Given the description of an element on the screen output the (x, y) to click on. 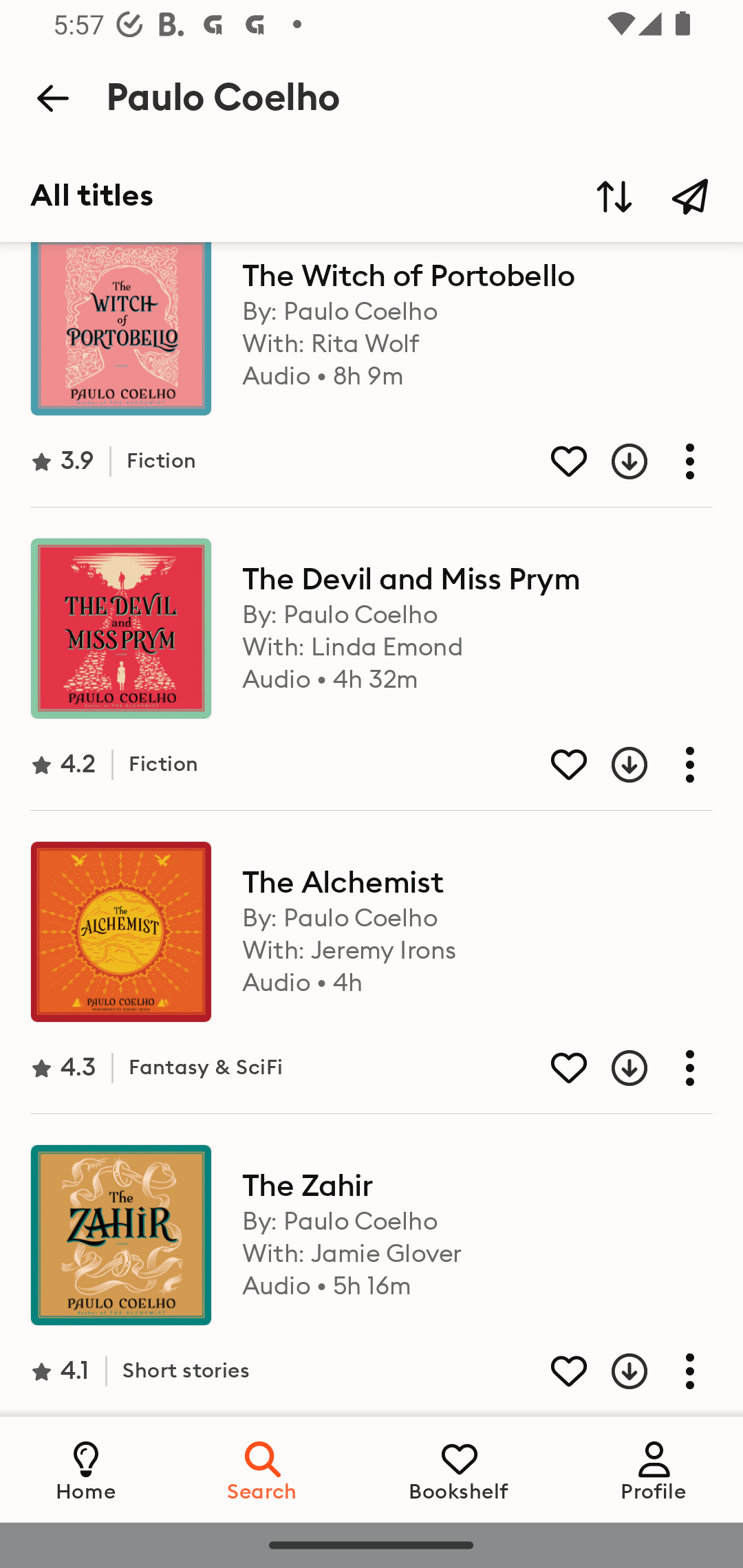
Back (52, 98)
Download (613, 460)
Download (613, 764)
Download (613, 1067)
Download (613, 1371)
Home (85, 1468)
Search (262, 1468)
Bookshelf (458, 1468)
Profile (653, 1468)
